Given the description of an element on the screen output the (x, y) to click on. 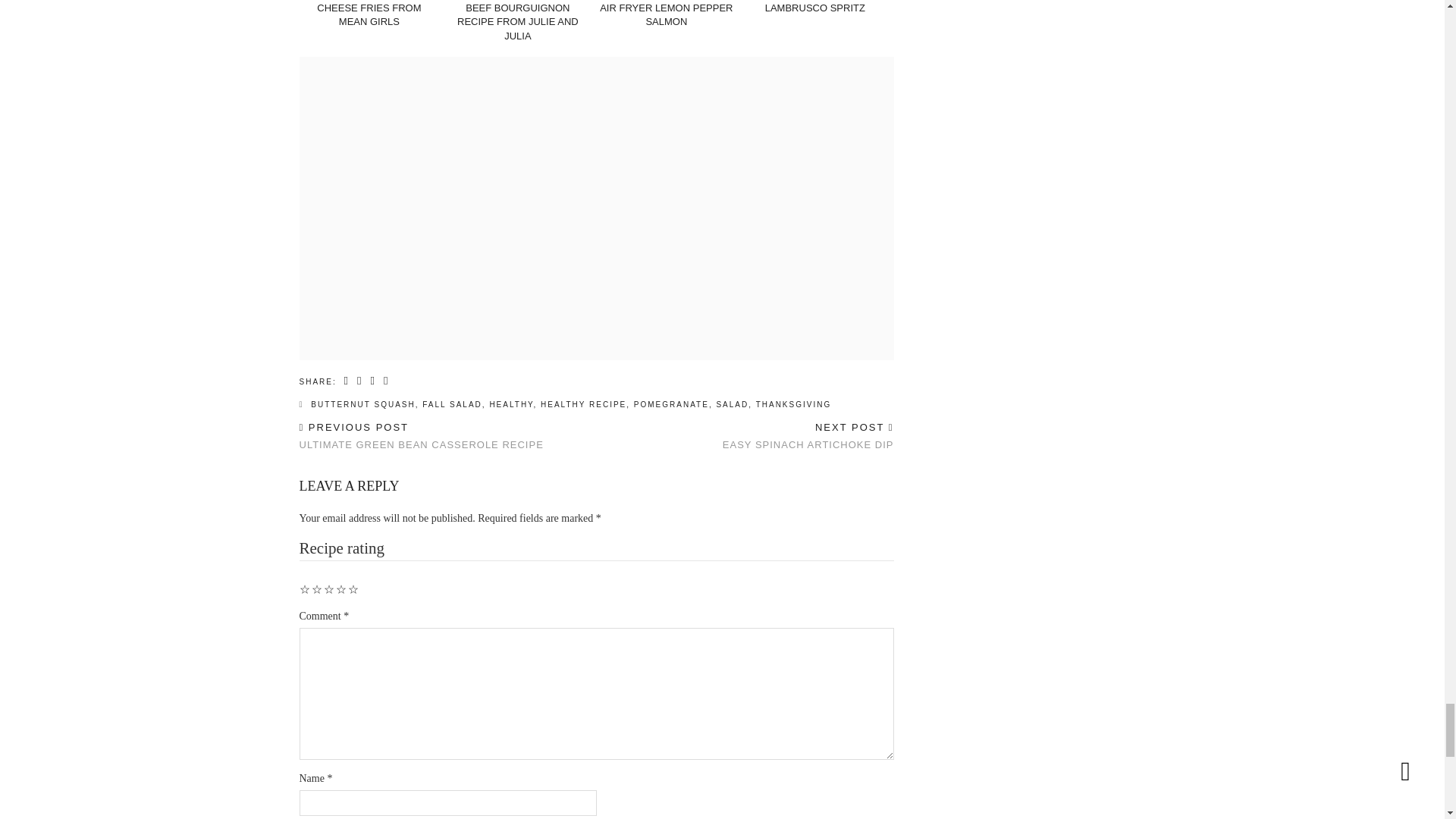
Cheese Fries from Mean Girls (368, 14)
Beef Bourguignon Recipe from Julie and Julia (517, 21)
Air Fryer Lemon Pepper Salmon (665, 14)
